Given the description of an element on the screen output the (x, y) to click on. 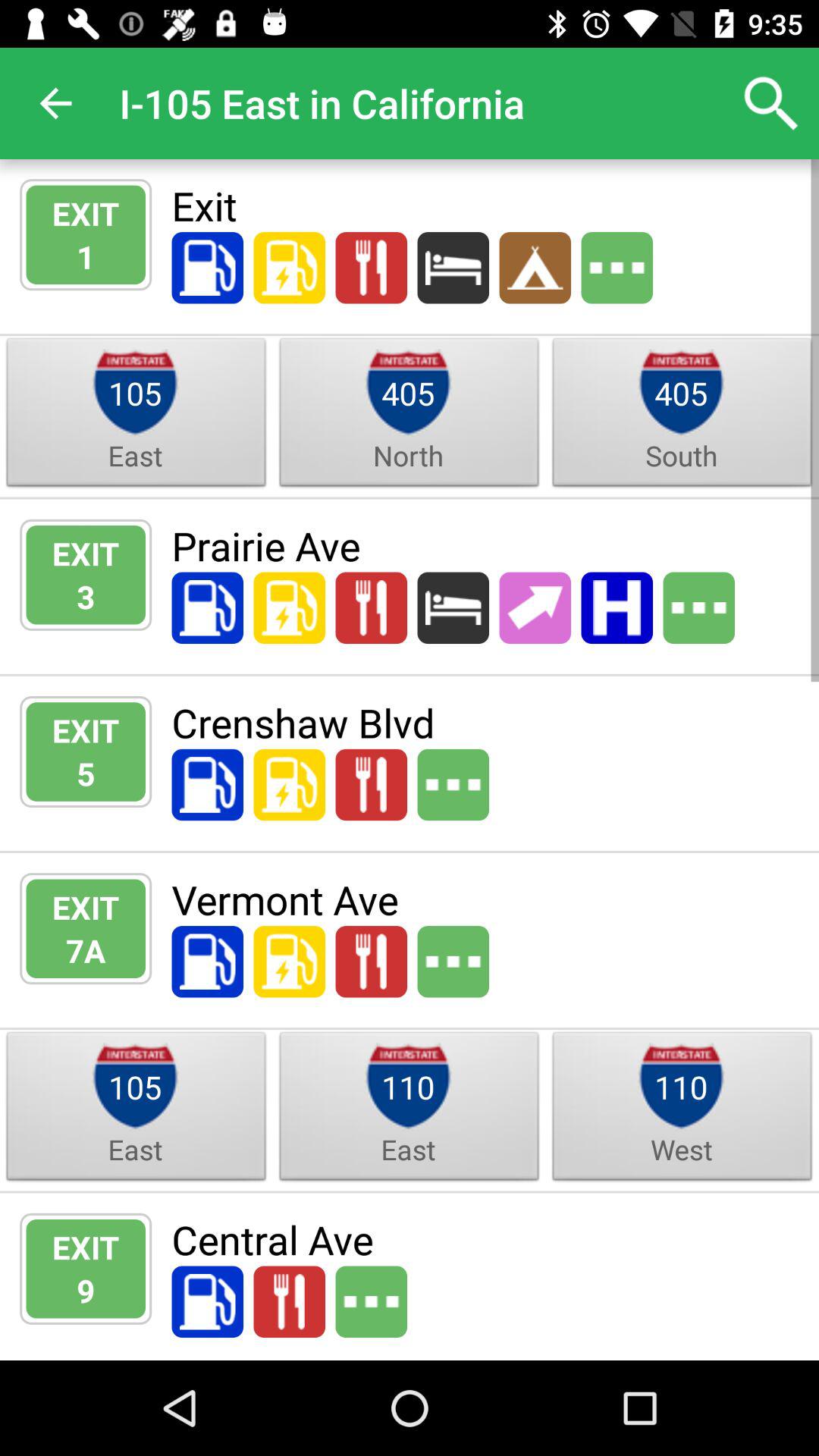
launch item below exit item (85, 949)
